Given the description of an element on the screen output the (x, y) to click on. 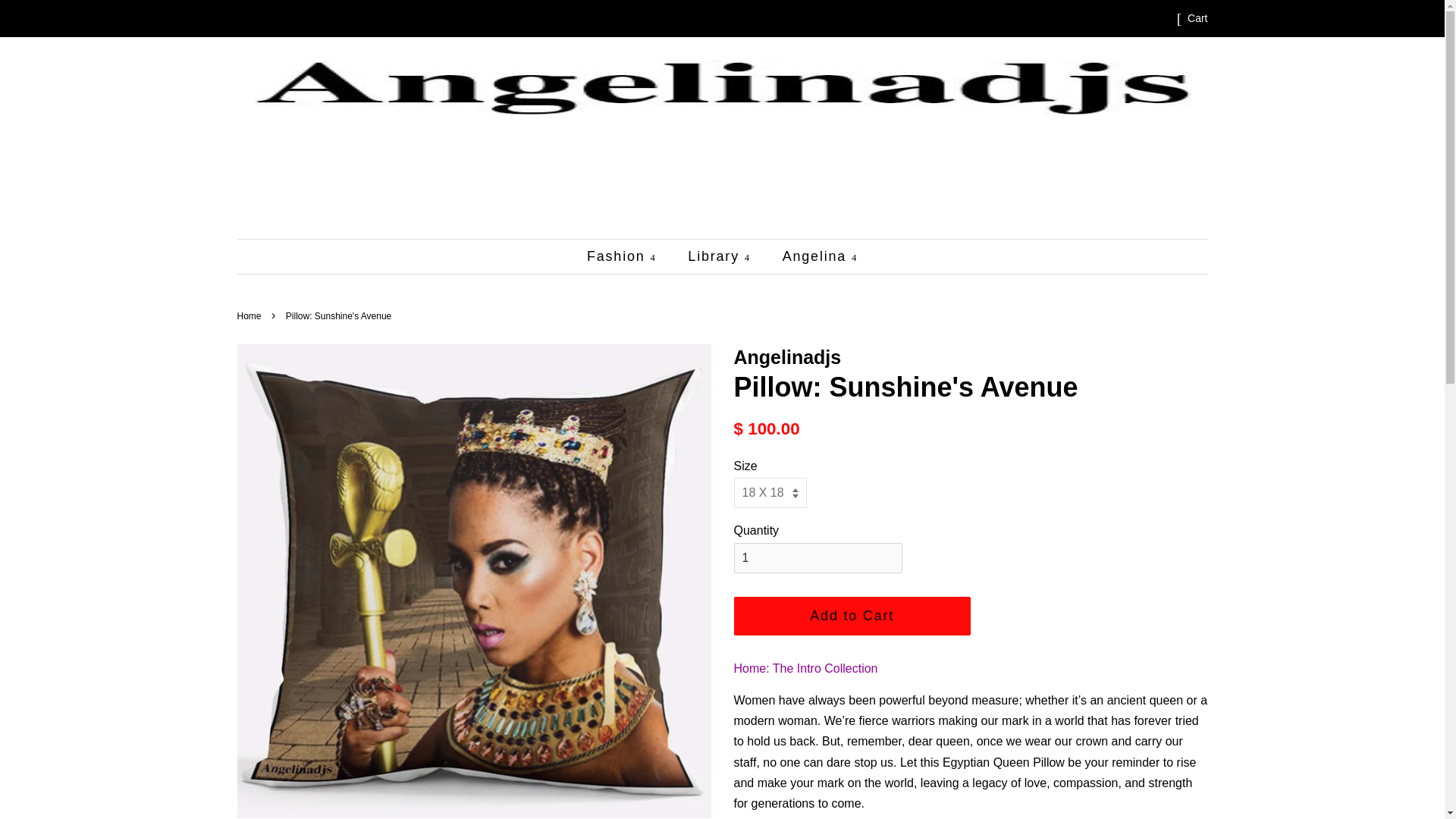
Library (721, 256)
Add to Cart (852, 615)
Fashion (628, 256)
1 (817, 558)
Cart (1197, 18)
Back to the frontpage (249, 316)
Home (249, 316)
Page 1 (970, 752)
Angelina (814, 256)
